Given the description of an element on the screen output the (x, y) to click on. 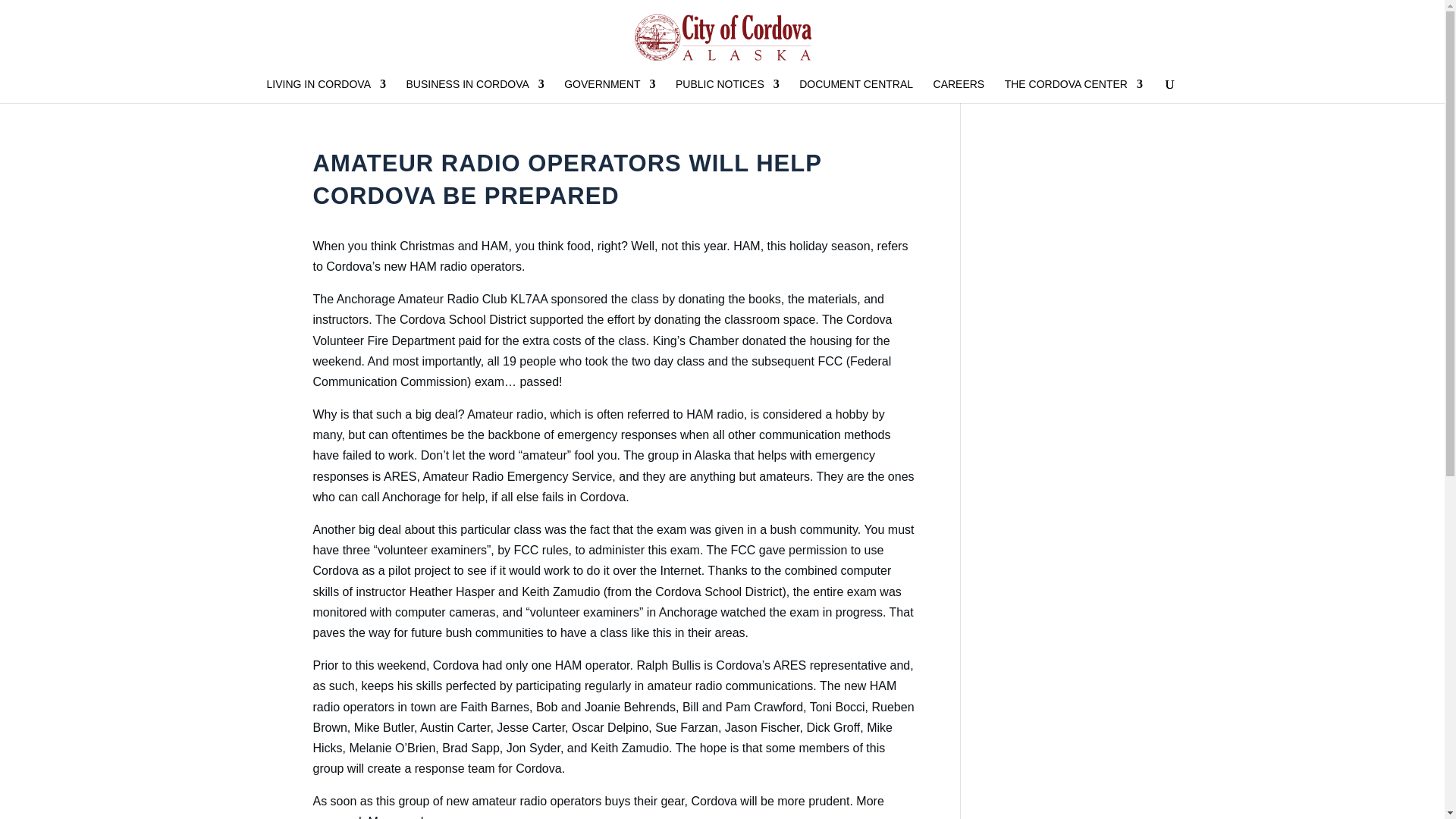
LIVING IN CORDOVA (325, 90)
BUSINESS IN CORDOVA (474, 90)
GOVERNMENT (609, 90)
